Given the description of an element on the screen output the (x, y) to click on. 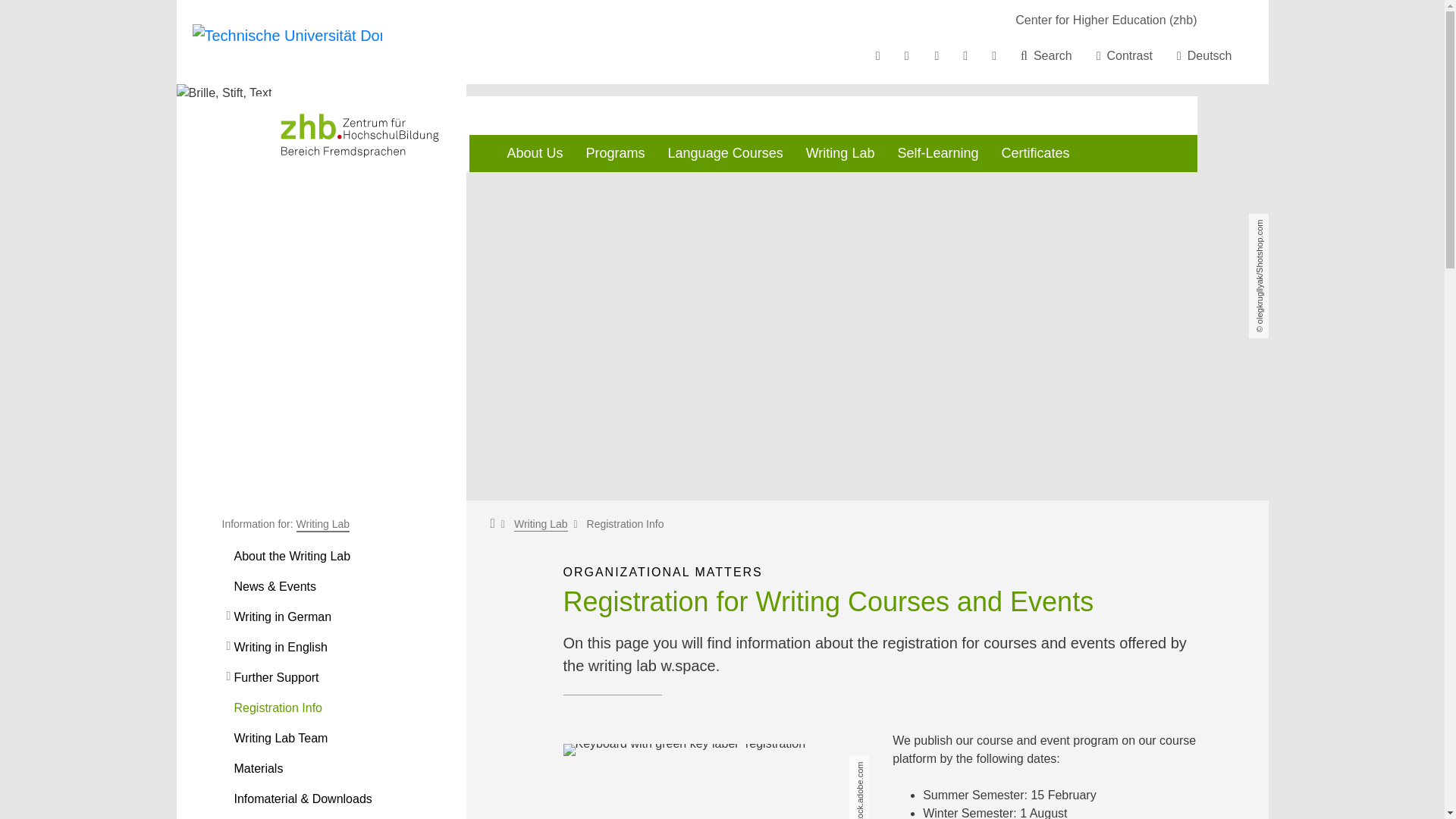
Logo zhb Bereich Fremdsprachen (357, 133)
Deutsch (1204, 55)
Contrast (1124, 55)
Search (1046, 55)
Contrast (1124, 55)
Search (1046, 55)
To the home page (286, 41)
